Given the description of an element on the screen output the (x, y) to click on. 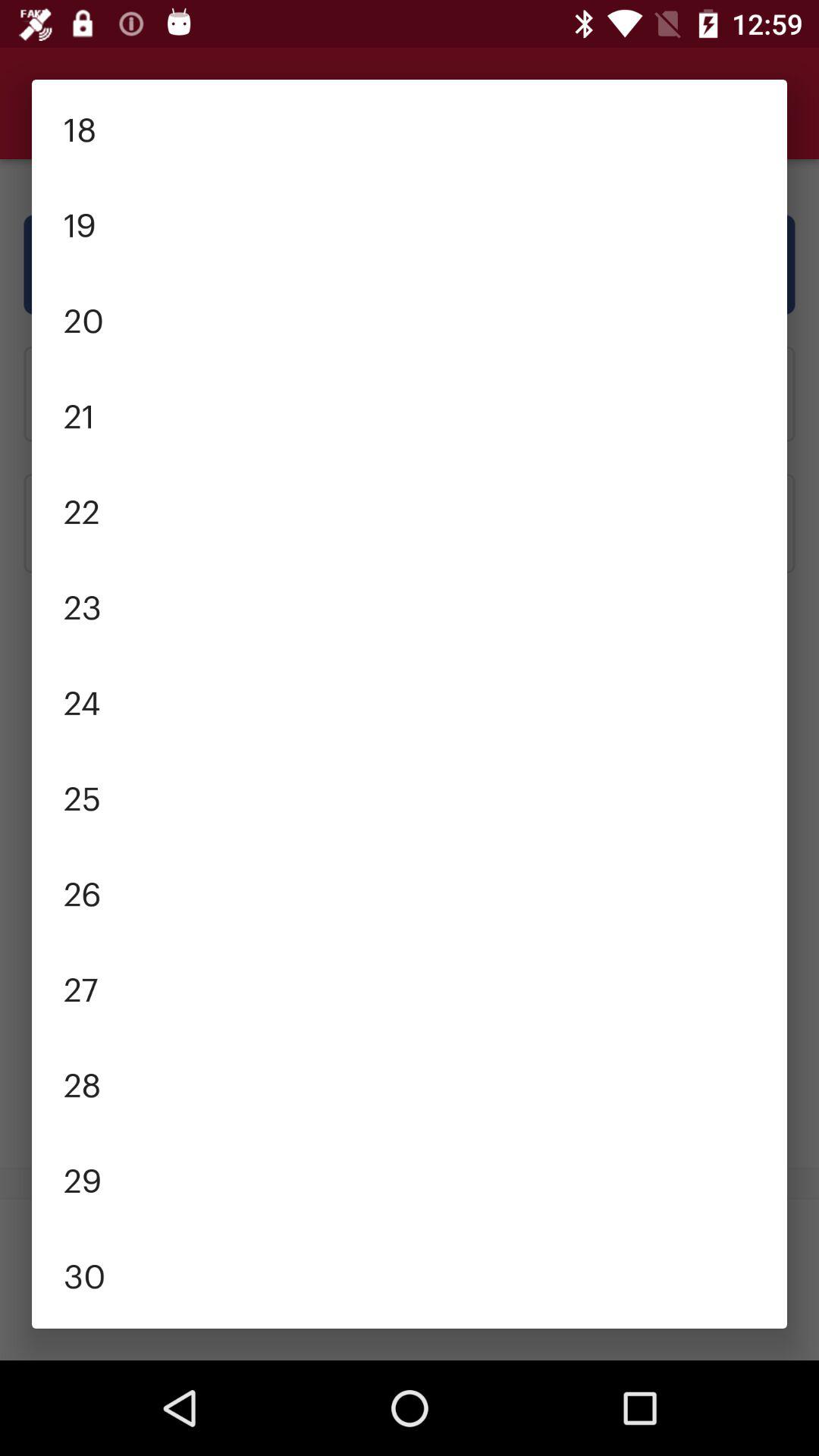
turn off the item above the 19 icon (409, 127)
